Given the description of an element on the screen output the (x, y) to click on. 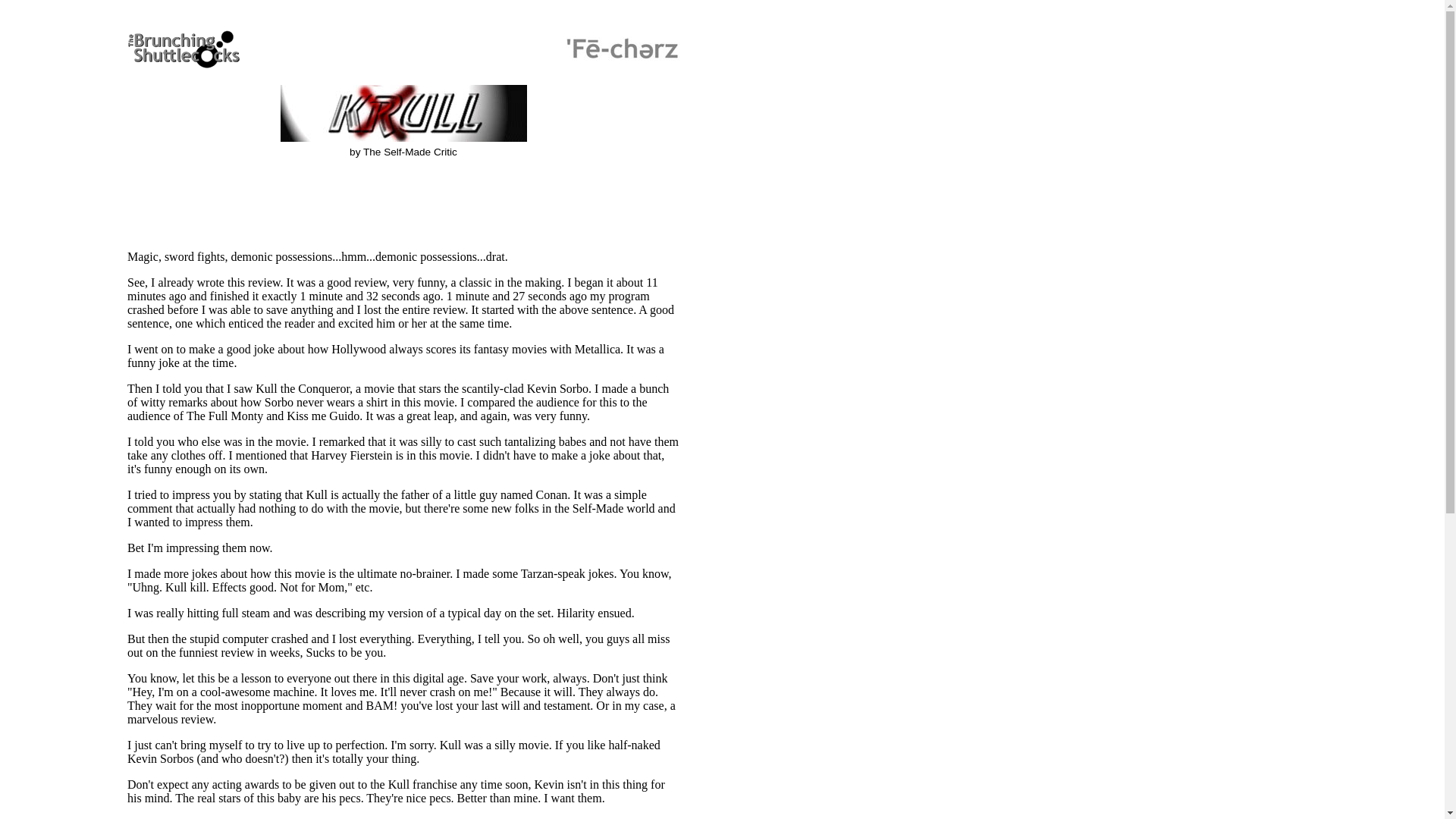
Advertisement (403, 203)
